Given the description of an element on the screen output the (x, y) to click on. 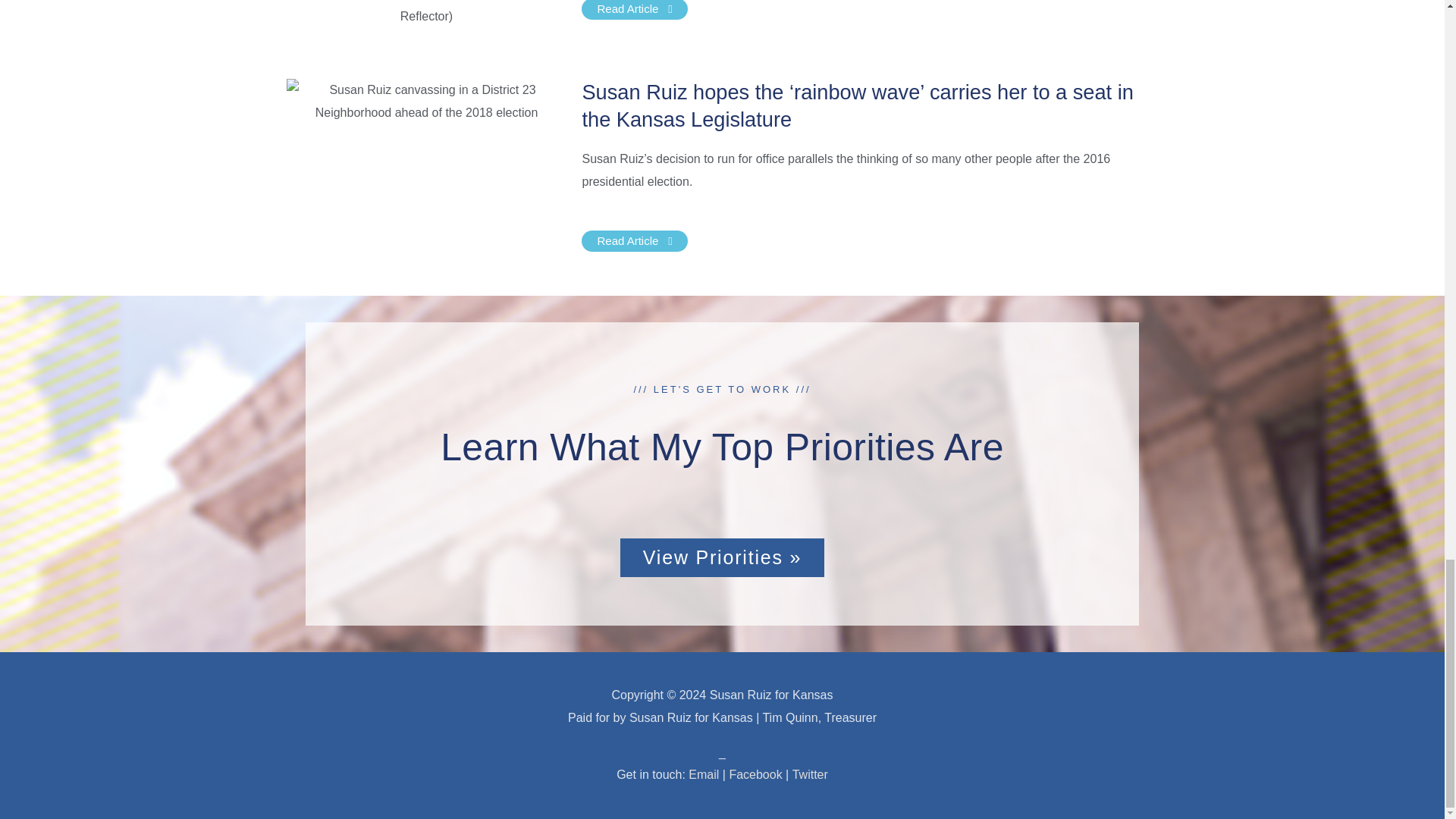
Facebook (755, 774)
Read Article (633, 9)
Email (703, 774)
Twitter (810, 774)
Read Article (633, 240)
